Given the description of an element on the screen output the (x, y) to click on. 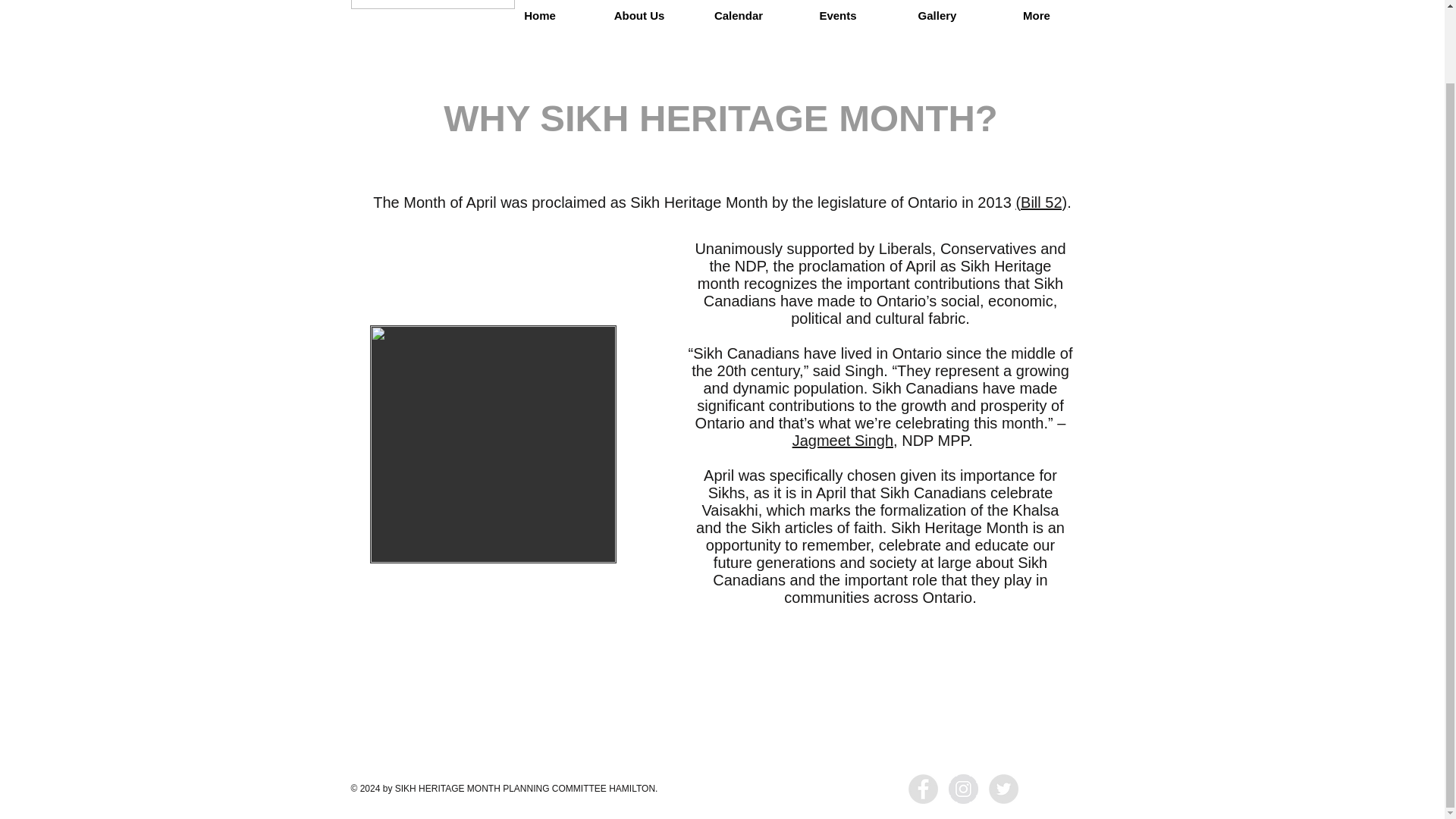
sikh-heritage-month-celebration-hamilton.jpg (492, 444)
Home (539, 16)
Jagmeet Singh, (845, 440)
Events (838, 16)
Calendar (737, 16)
About Us (638, 16)
